Given the description of an element on the screen output the (x, y) to click on. 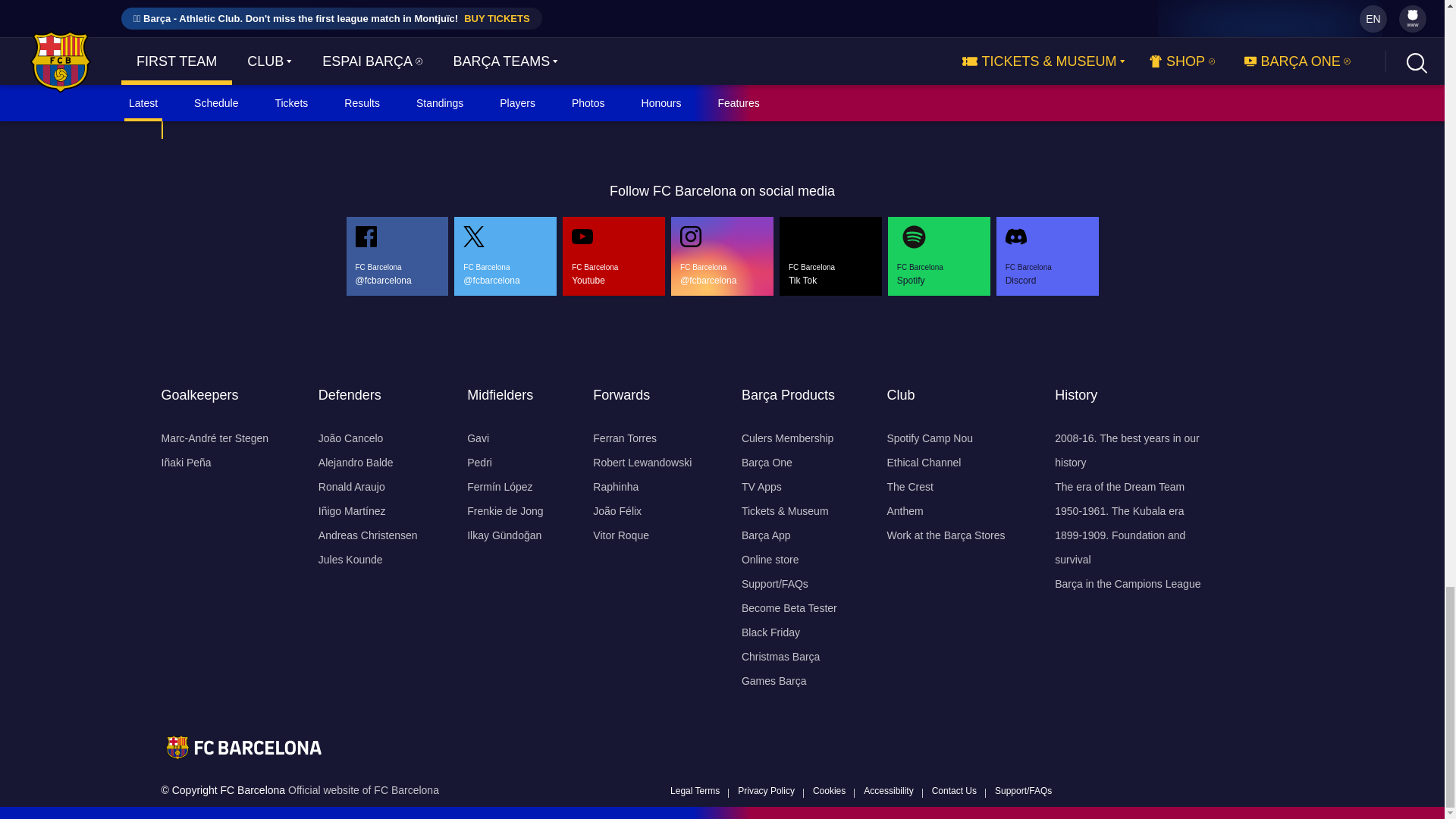
Go visit Nike (344, 96)
Go visit Spotify (705, 96)
Go visit Ambilight (1082, 96)
